Given the description of an element on the screen output the (x, y) to click on. 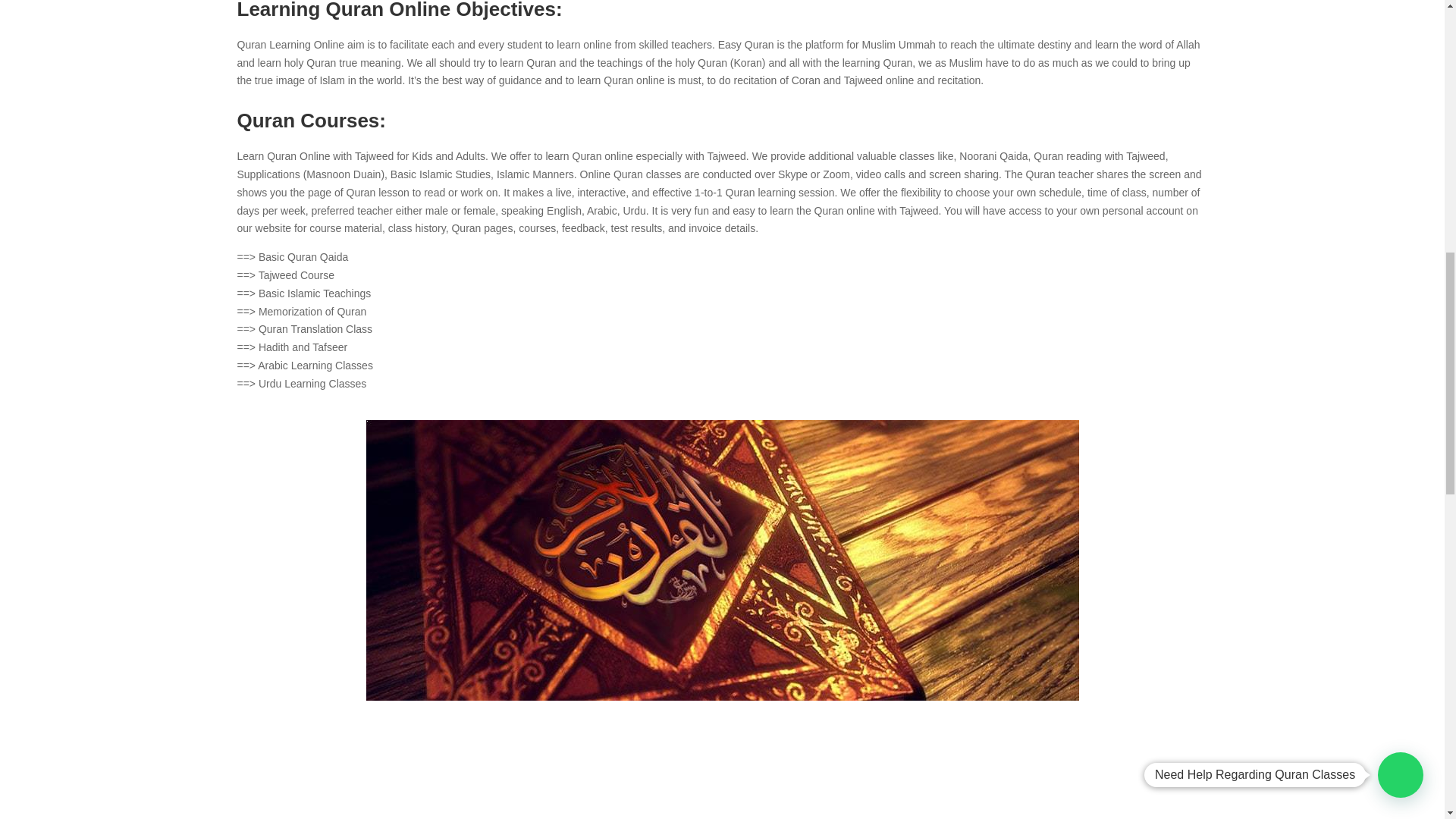
Advertisement (721, 800)
